Given the description of an element on the screen output the (x, y) to click on. 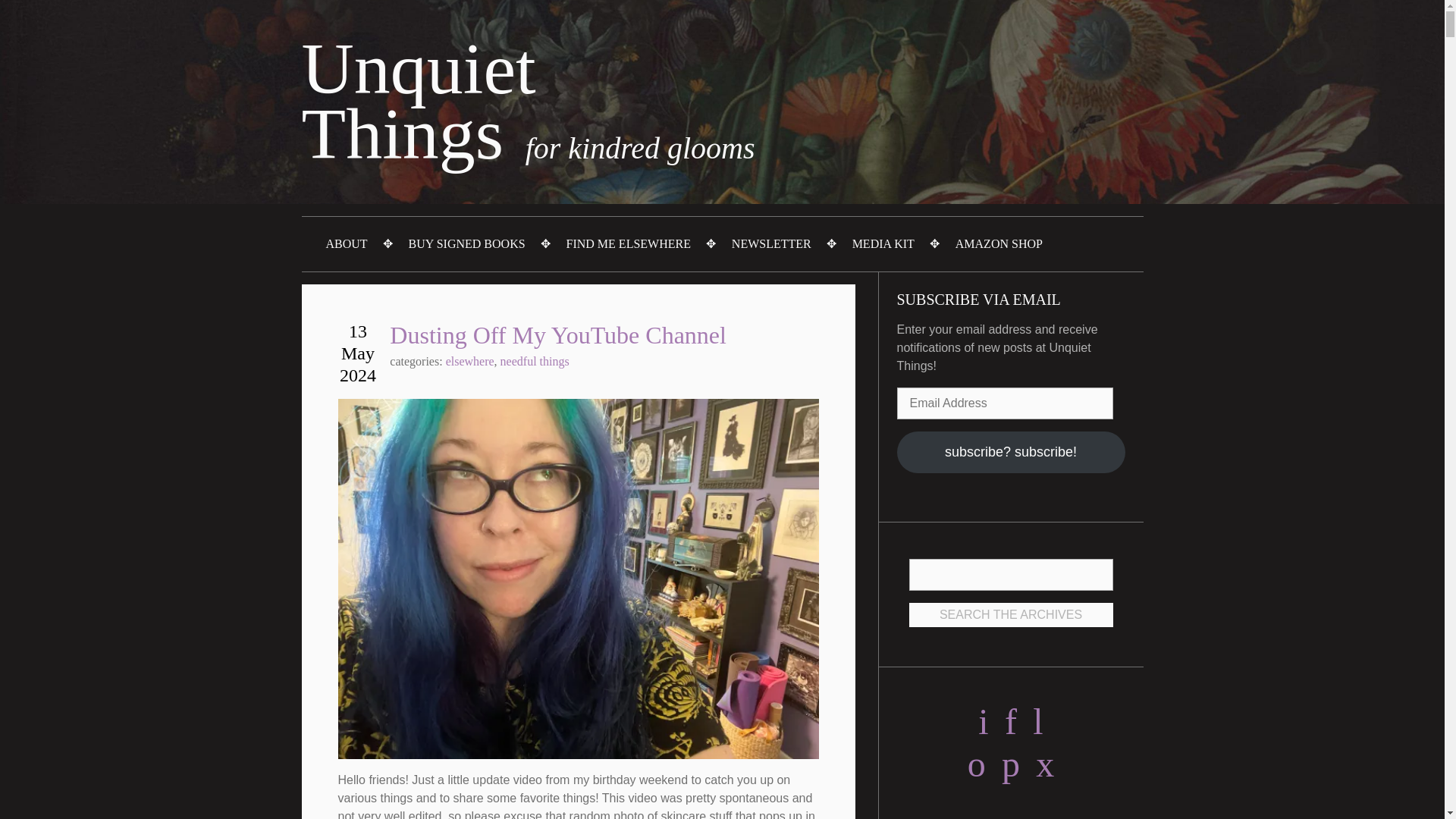
NEWSLETTER (771, 244)
needful things (534, 360)
FIND ME ELSEWHERE (628, 244)
Dusting Off My YouTube Channel (558, 334)
ABOUT (347, 244)
BUY SIGNED BOOKS (466, 244)
elsewhere (470, 360)
Search (1010, 574)
AMAZON SHOP (998, 244)
MEDIA KIT (418, 121)
